Given the description of an element on the screen output the (x, y) to click on. 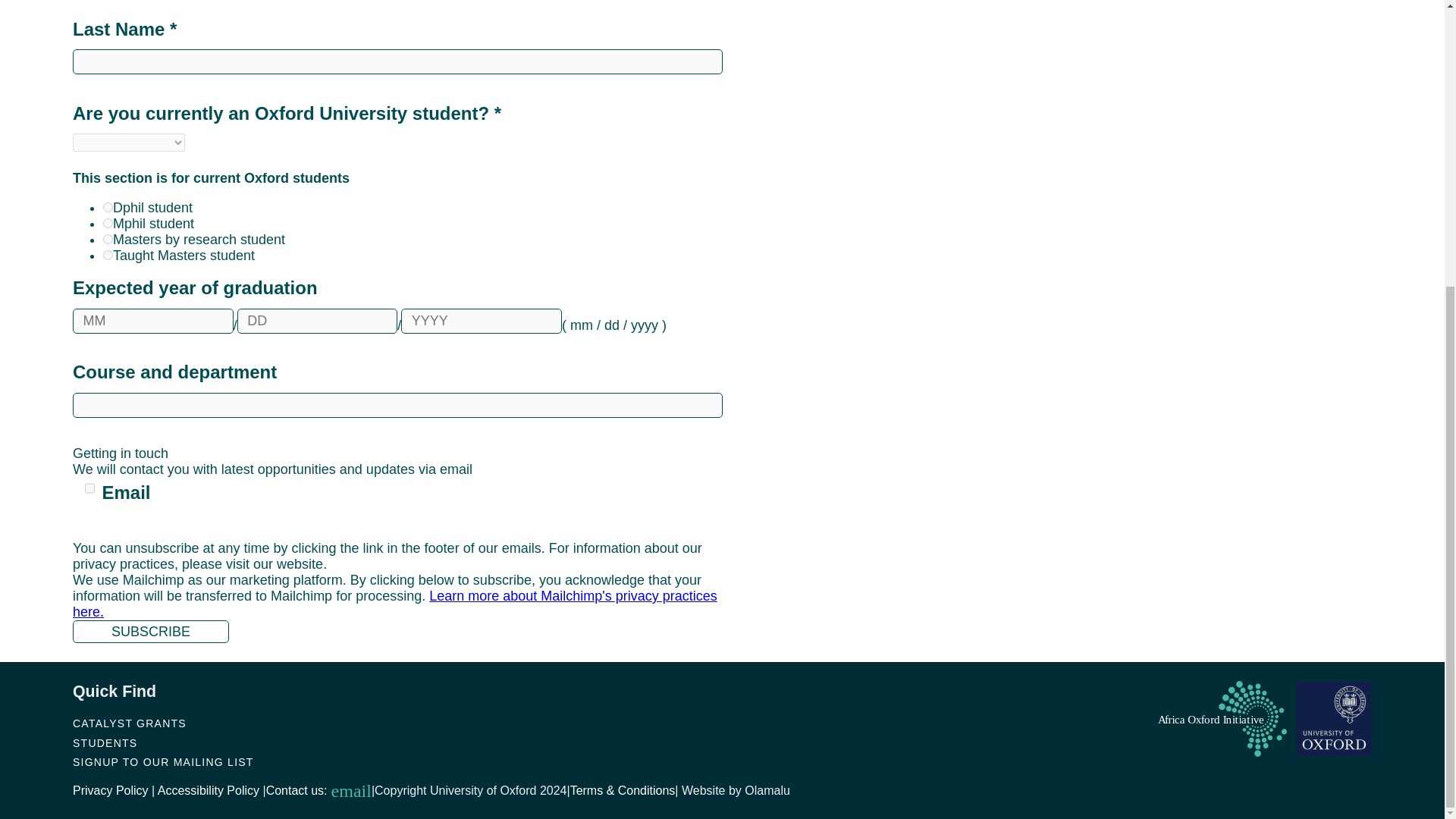
STUDENTS (104, 742)
Accessibility Policy (208, 789)
email (349, 791)
Subscribe (150, 630)
SIGNUP TO OUR MAILING LIST (162, 761)
Taught Masters student (108, 255)
CATALYST GRANTS (129, 723)
Subscribe (150, 630)
Dphil student (108, 207)
Learn more about Mailchimp's privacy practices here. (394, 603)
